Given the description of an element on the screen output the (x, y) to click on. 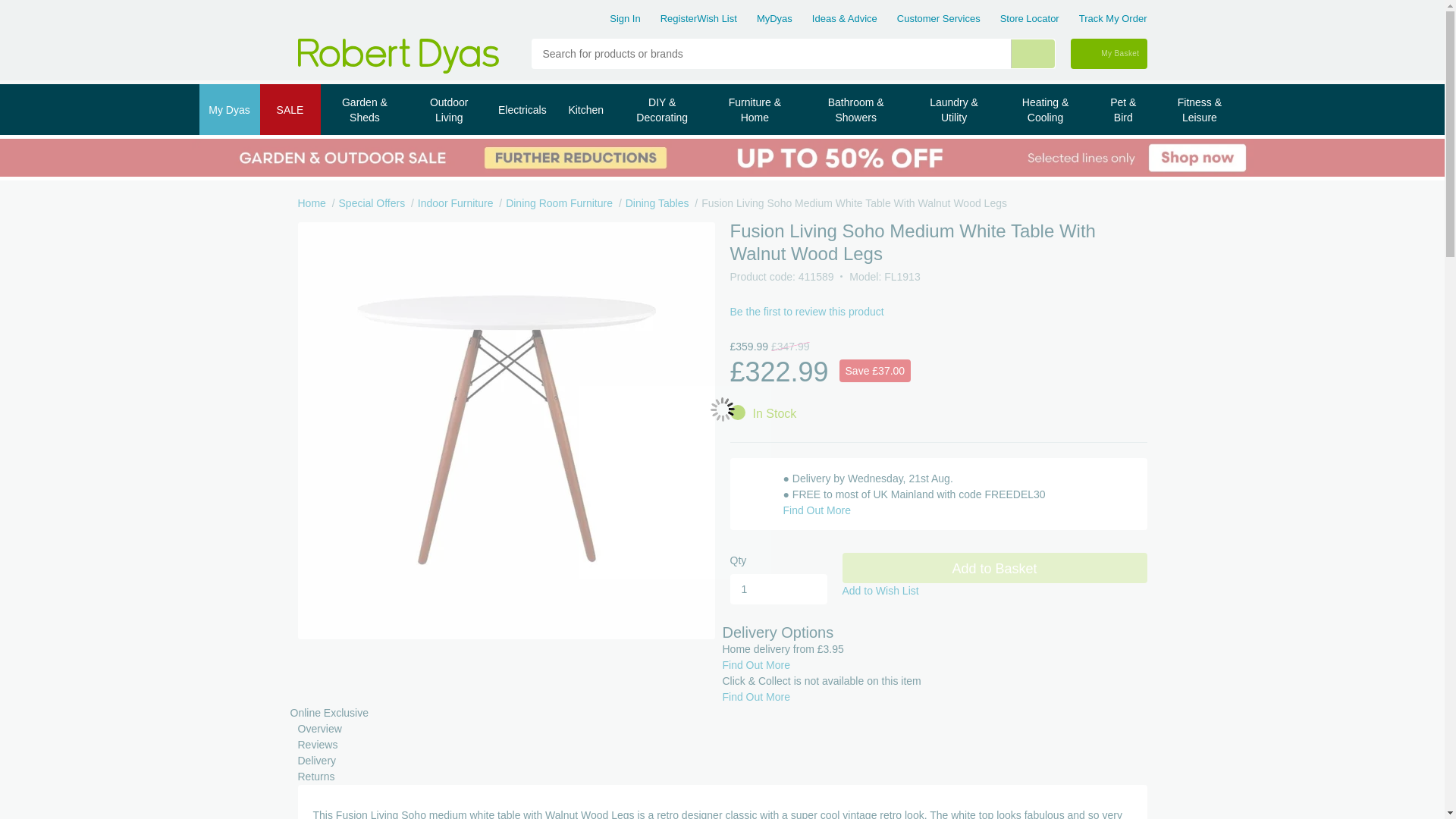
Sign In (625, 18)
1 (778, 589)
Customer Services (937, 18)
Search (1039, 53)
My Basket (1108, 53)
Register (679, 18)
Search (1032, 53)
Track My Order (1112, 18)
Search (1032, 53)
Store Locator (1029, 18)
